Given the description of an element on the screen output the (x, y) to click on. 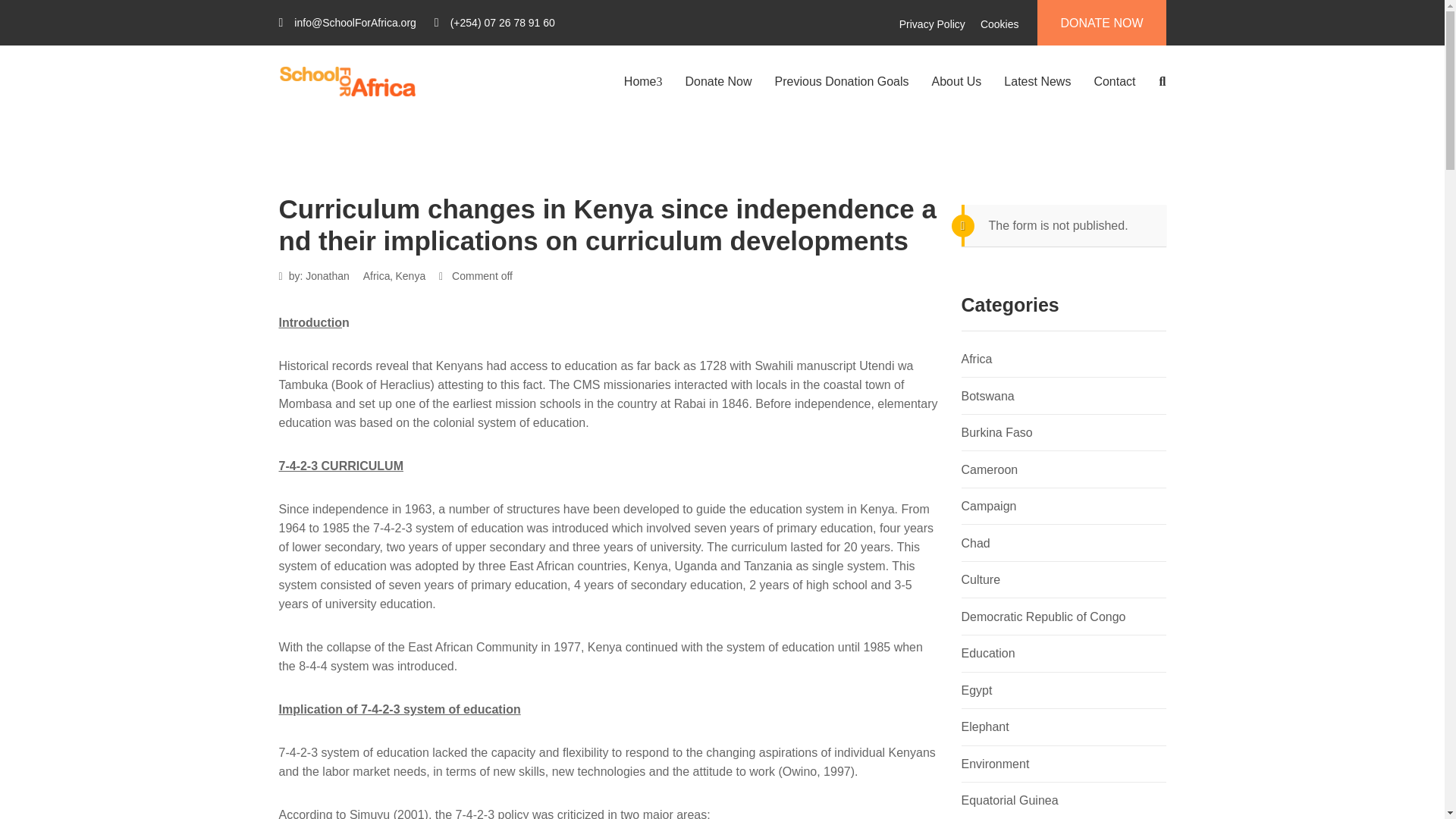
Elephant (984, 726)
Latest News (1037, 81)
Africa (376, 275)
Kenya (411, 275)
Jonathan (327, 275)
Previous Donation Goals (841, 81)
Botswana (987, 395)
Campaign (988, 505)
Donate Now (718, 81)
Donate Now (718, 81)
Culture (980, 579)
Africa (976, 358)
Burkina Faso (996, 431)
Latest News (1037, 81)
DONATE NOW (1101, 22)
